Given the description of an element on the screen output the (x, y) to click on. 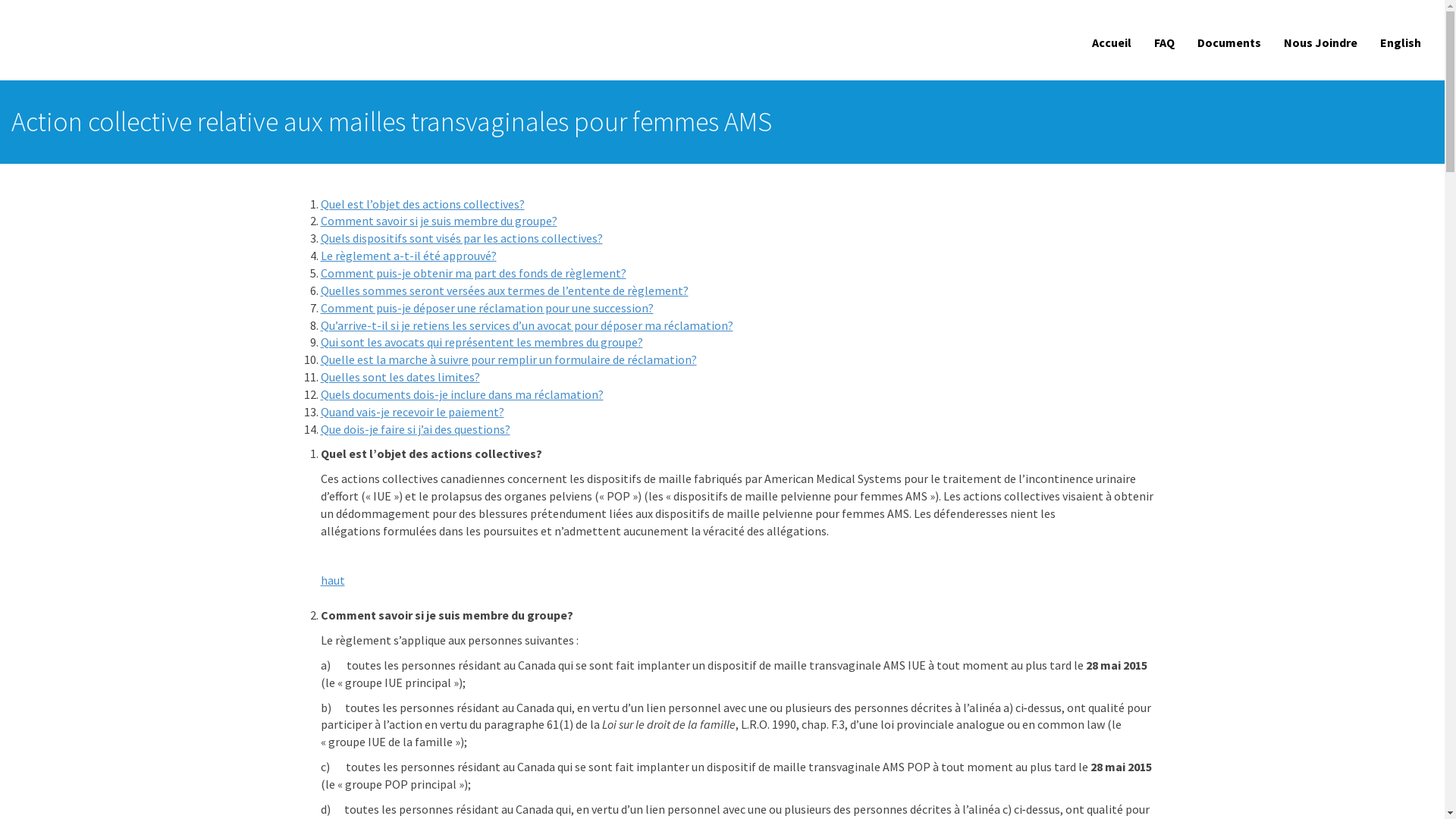
English Element type: text (1400, 42)
Accueil Element type: text (1111, 42)
haut Element type: text (332, 579)
Quelles sont les dates limites? Element type: text (399, 376)
Nous Joindre Element type: text (1320, 42)
Comment savoir si je suis membre du groupe? Element type: text (438, 220)
Documents Element type: text (1229, 42)
FAQ Element type: text (1164, 42)
Quand vais-je recevoir le paiement? Element type: text (411, 411)
